Given the description of an element on the screen output the (x, y) to click on. 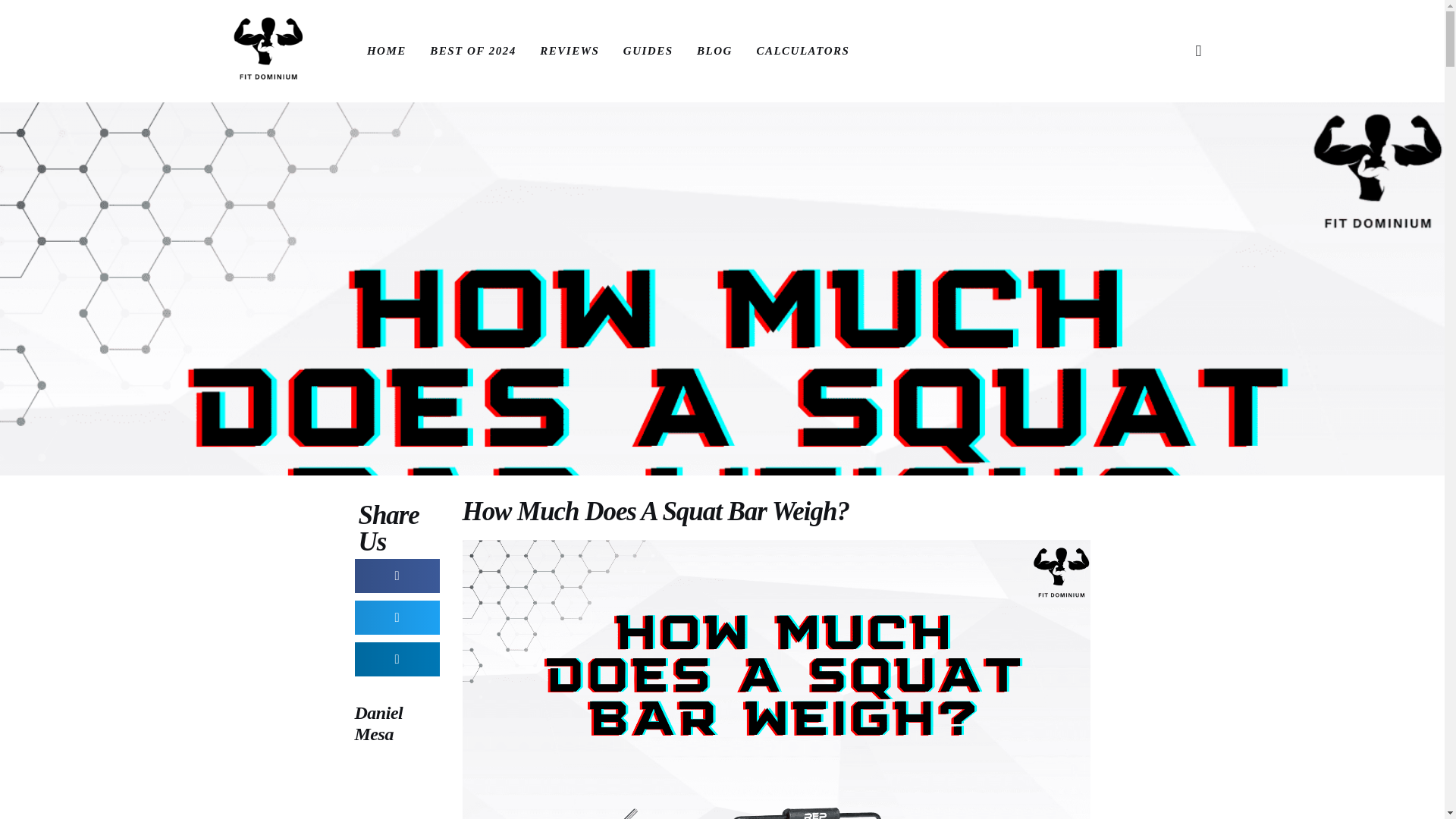
GUIDES (647, 50)
CALCULATORS (802, 50)
HOME (386, 50)
BLOG (714, 50)
BEST OF 2024 (472, 50)
REVIEWS (569, 50)
